Given the description of an element on the screen output the (x, y) to click on. 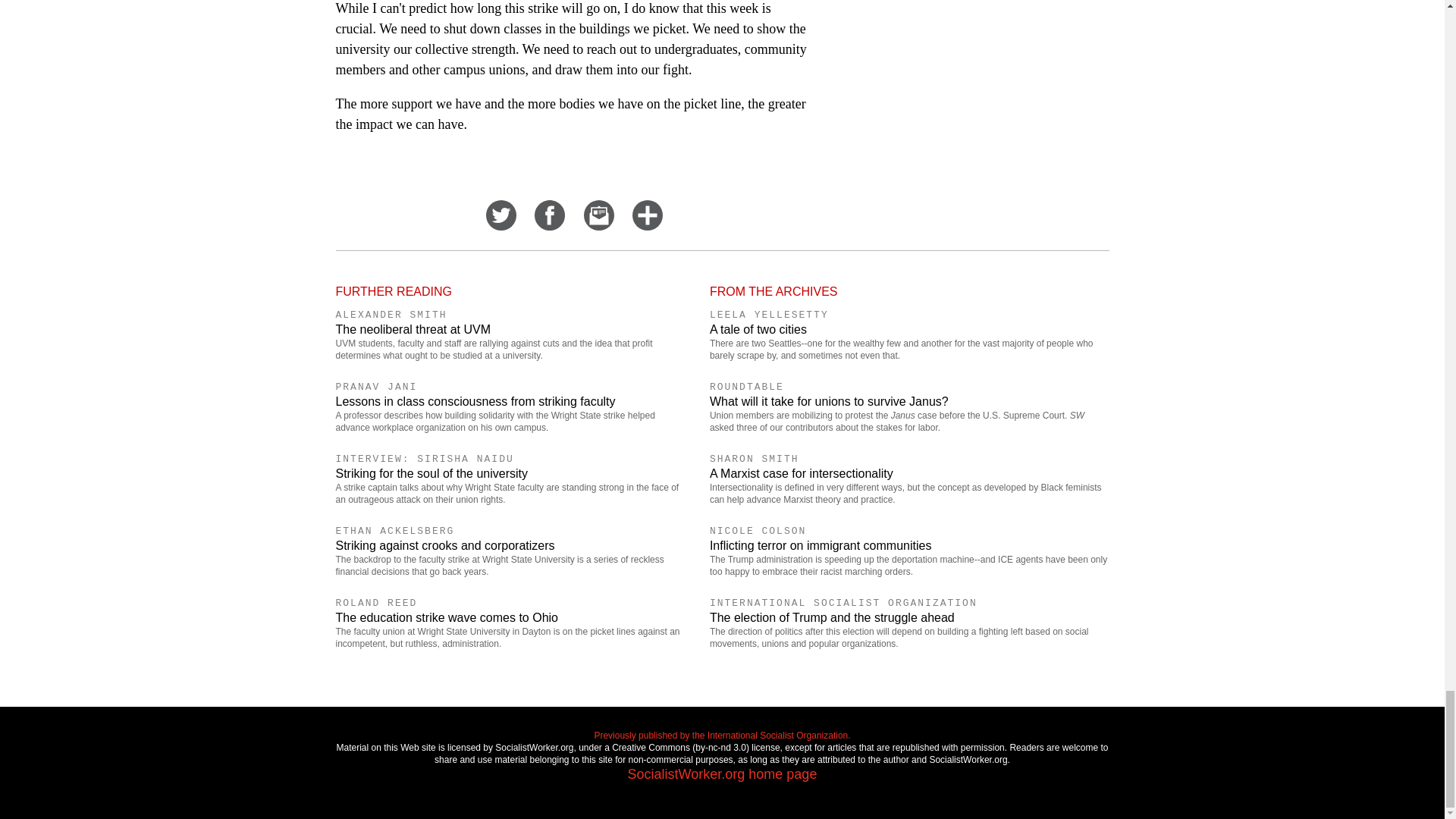
Share on Twitter (501, 225)
Share on Facebook (549, 225)
Email this story (598, 225)
Click for more options (646, 225)
